Given the description of an element on the screen output the (x, y) to click on. 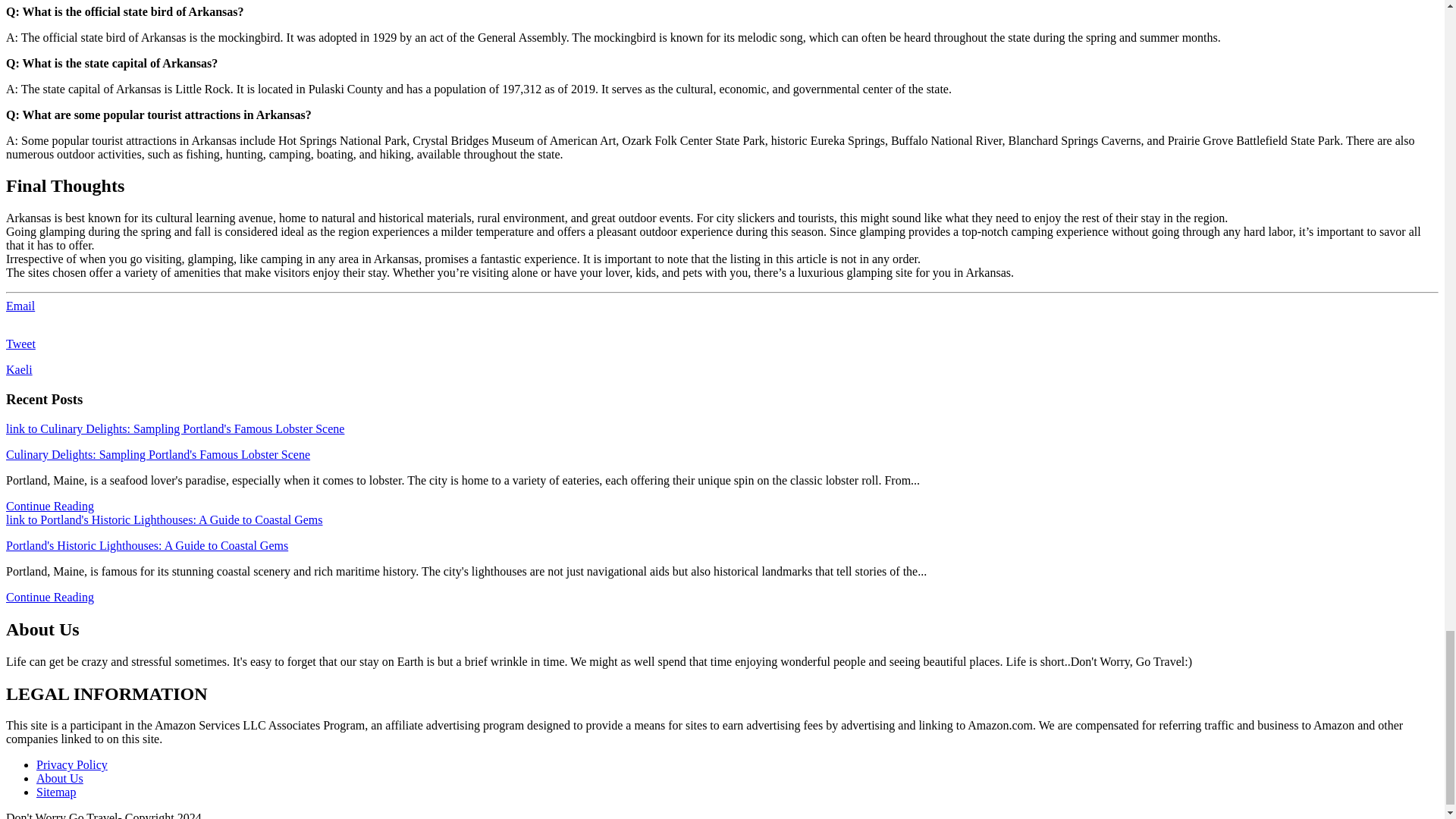
Portland's Historic Lighthouses: A Guide to Coastal Gems (146, 545)
Email (19, 305)
Continue Reading (49, 505)
Kaeli (18, 369)
Tweet (19, 343)
Culinary Delights: Sampling Portland's Famous Lobster Scene (157, 454)
